Given the description of an element on the screen output the (x, y) to click on. 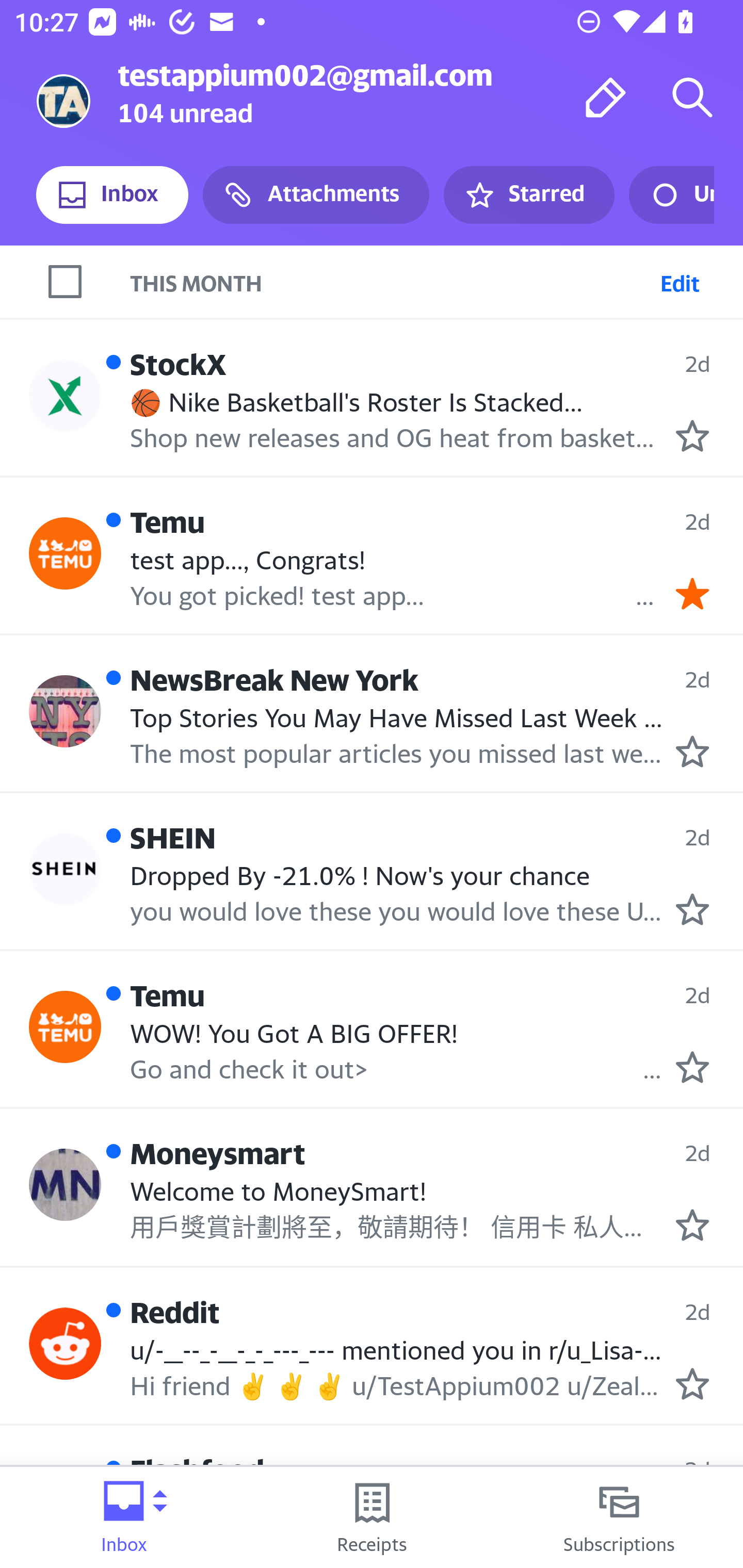
Compose (605, 97)
Search mail (692, 97)
Attachments (315, 195)
Starred (528, 195)
THIS MONTH (436, 281)
Profile
StockX (64, 395)
Mark as starred. (692, 435)
Profile
Temu (64, 553)
Remove star. (692, 593)
Profile
NewsBreak New York (64, 711)
Mark as starred. (692, 751)
Profile
SHEIN (64, 868)
Mark as starred. (692, 908)
Profile
Temu (64, 1026)
Mark as starred. (692, 1066)
Profile
Moneysmart (64, 1185)
Mark as starred. (692, 1225)
Profile
Reddit (64, 1343)
Mark as starred. (692, 1383)
Inbox Folder picker (123, 1517)
Receipts (371, 1517)
Subscriptions (619, 1517)
Mark as starred. (692, 1542)
